Given the description of an element on the screen output the (x, y) to click on. 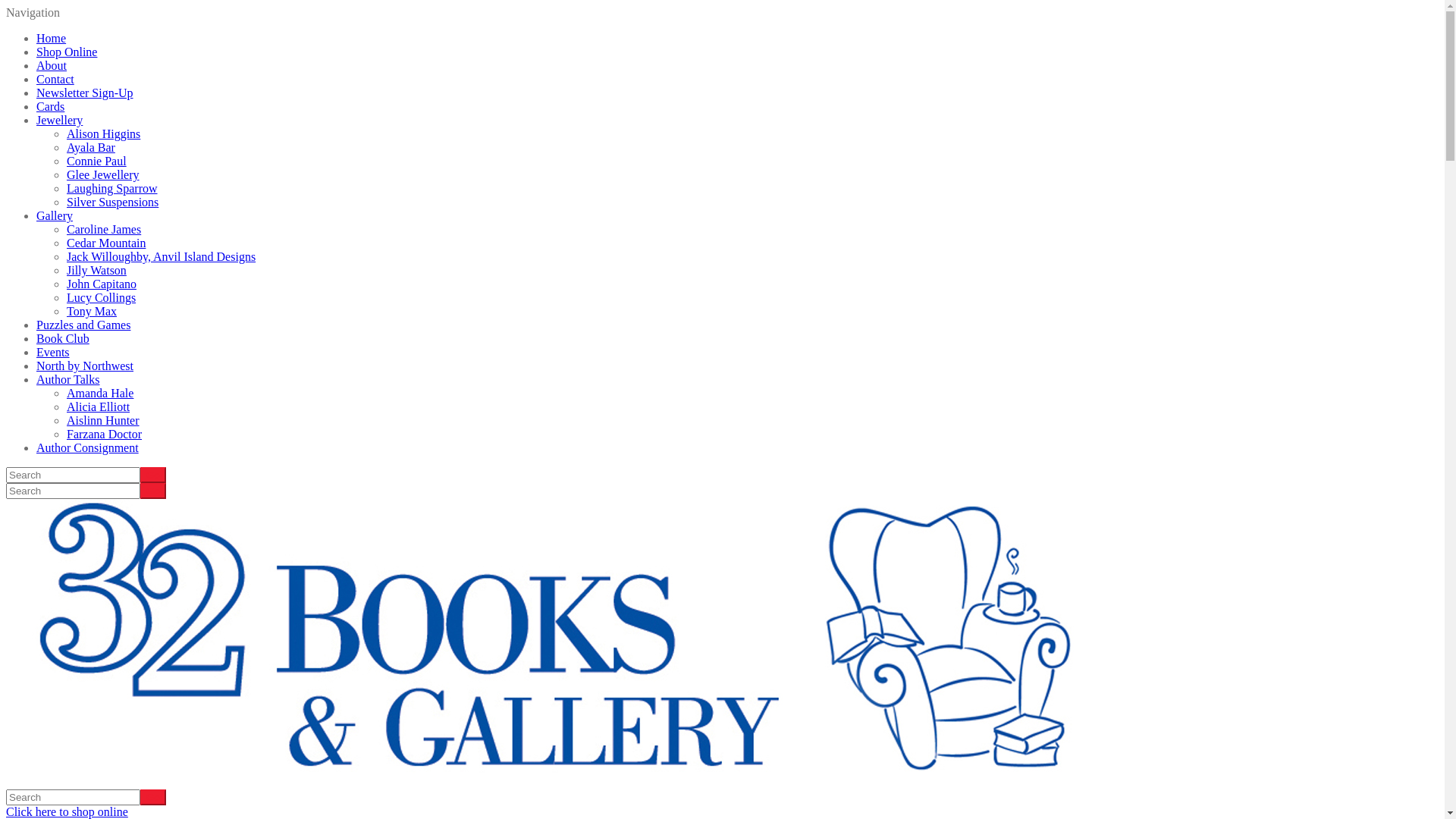
Farzana Doctor Element type: text (103, 433)
Connie Paul Element type: text (96, 160)
Author Consignment Element type: text (87, 447)
Newsletter Sign-Up Element type: text (84, 92)
Alicia Elliott Element type: text (97, 406)
Caroline James Element type: text (103, 228)
Go Element type: text (153, 475)
Cedar Mountain Element type: text (105, 242)
Author Talks Element type: text (67, 379)
Home Element type: text (50, 37)
Gallery Element type: text (54, 215)
Cards Element type: text (50, 106)
Events Element type: text (52, 351)
Go Element type: text (153, 490)
Laughing Sparrow Element type: text (111, 188)
Click here to shop online Element type: text (67, 811)
Glee Jewellery Element type: text (102, 174)
Silver Suspensions Element type: text (112, 201)
North by Northwest Element type: text (84, 365)
Book Club Element type: text (62, 338)
Alison Higgins Element type: text (103, 133)
Aislinn Hunter Element type: text (102, 420)
Lucy Collings Element type: text (100, 297)
Shop Online Element type: text (66, 51)
John Capitano Element type: text (101, 283)
Contact Element type: text (55, 78)
Go Element type: text (153, 797)
Jewellery Element type: text (59, 119)
Jilly Watson Element type: text (96, 269)
Puzzles and Games Element type: text (83, 324)
Amanda Hale Element type: text (99, 392)
About Element type: text (51, 65)
Ayala Bar Element type: text (90, 147)
Jack Willoughby, Anvil Island Designs Element type: text (160, 256)
Tony Max Element type: text (91, 310)
